Given the description of an element on the screen output the (x, y) to click on. 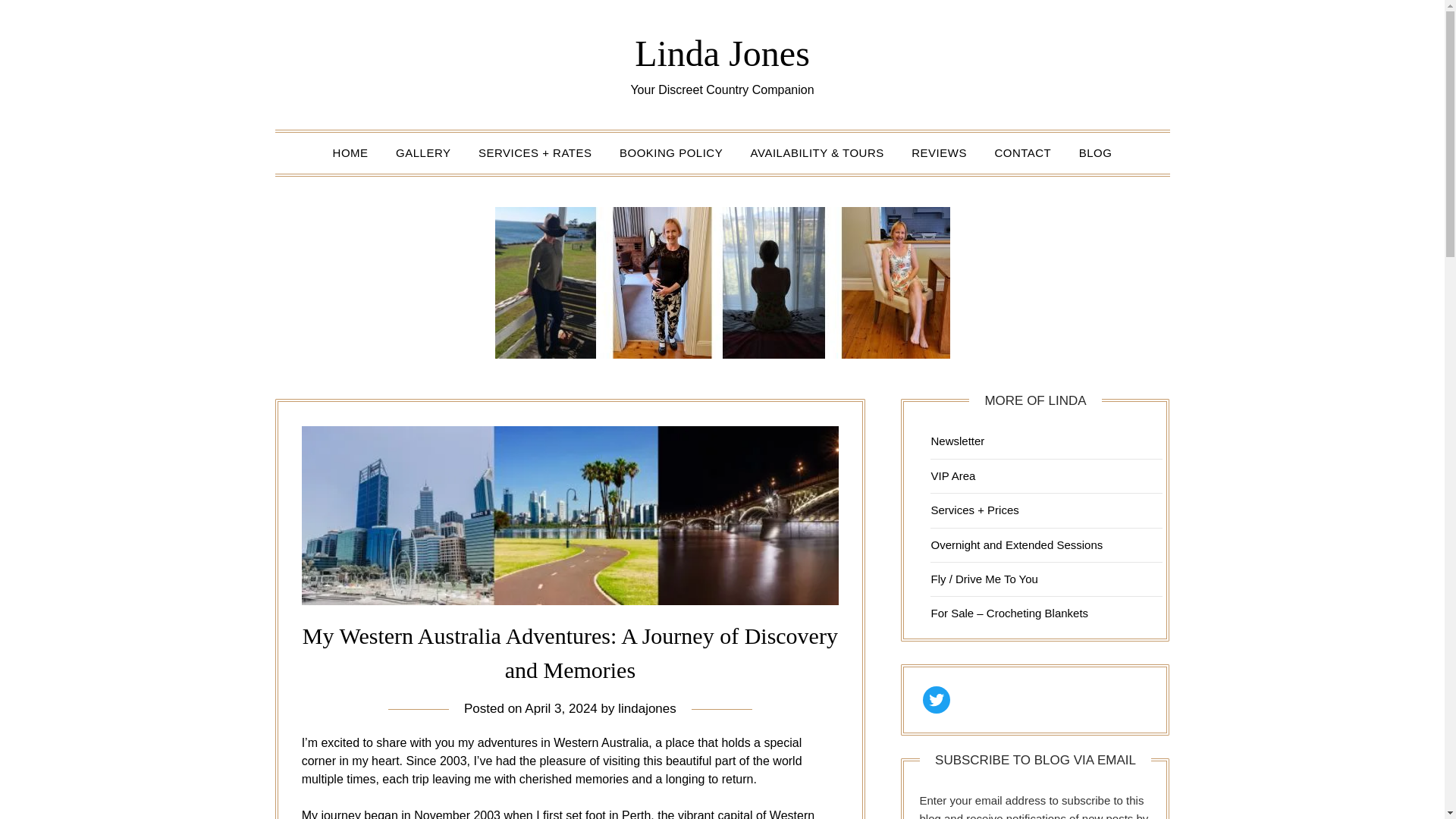
Linda Jones (721, 53)
BLOG (1095, 152)
GALLERY (423, 152)
lindajones (647, 708)
Twitter (936, 699)
Newsletter (957, 440)
VIP Area (952, 475)
HOME (350, 152)
Overnight and Extended Sessions (1016, 544)
April 3, 2024 (560, 708)
BOOKING POLICY (671, 152)
REVIEWS (938, 152)
CONTACT (1021, 152)
